Given the description of an element on the screen output the (x, y) to click on. 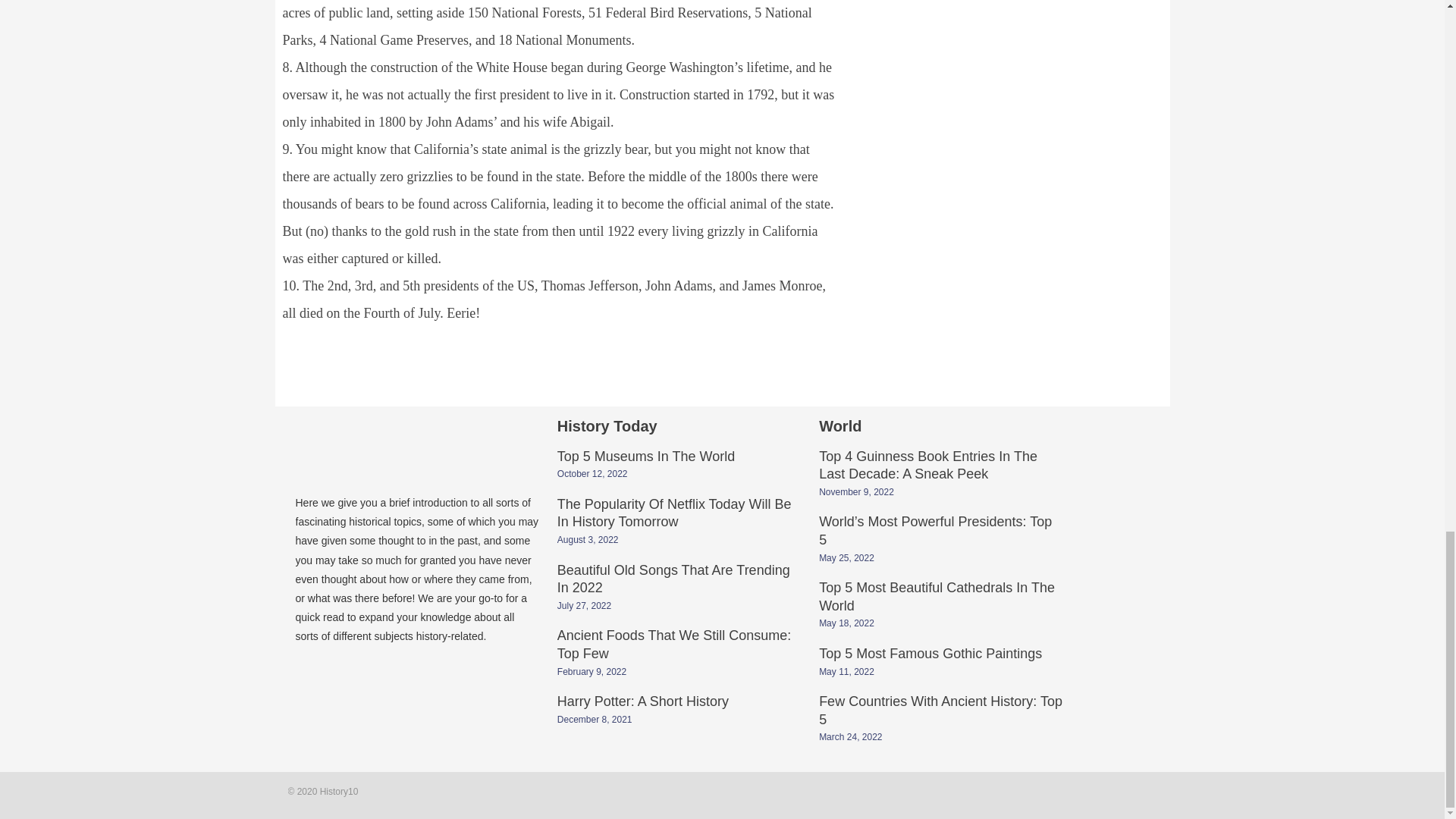
Few Countries With Ancient History: Top 5 (940, 711)
Top 5 Most Famous Gothic Paintings (930, 655)
Top 5 Most Beautiful Cathedrals In The World (936, 597)
Top 4 Guinness Book Entries In The Last Decade: A Sneak Peek (927, 466)
Top 5 Museums In The World (646, 457)
Beautiful Old Songs That Are Trending In 2022 (673, 580)
Ancient Foods That We Still Consume: Top Few (673, 645)
The Popularity Of Netflix Today Will Be In History Tomorrow (674, 514)
Harry Potter: A Short History (643, 702)
